Given the description of an element on the screen output the (x, y) to click on. 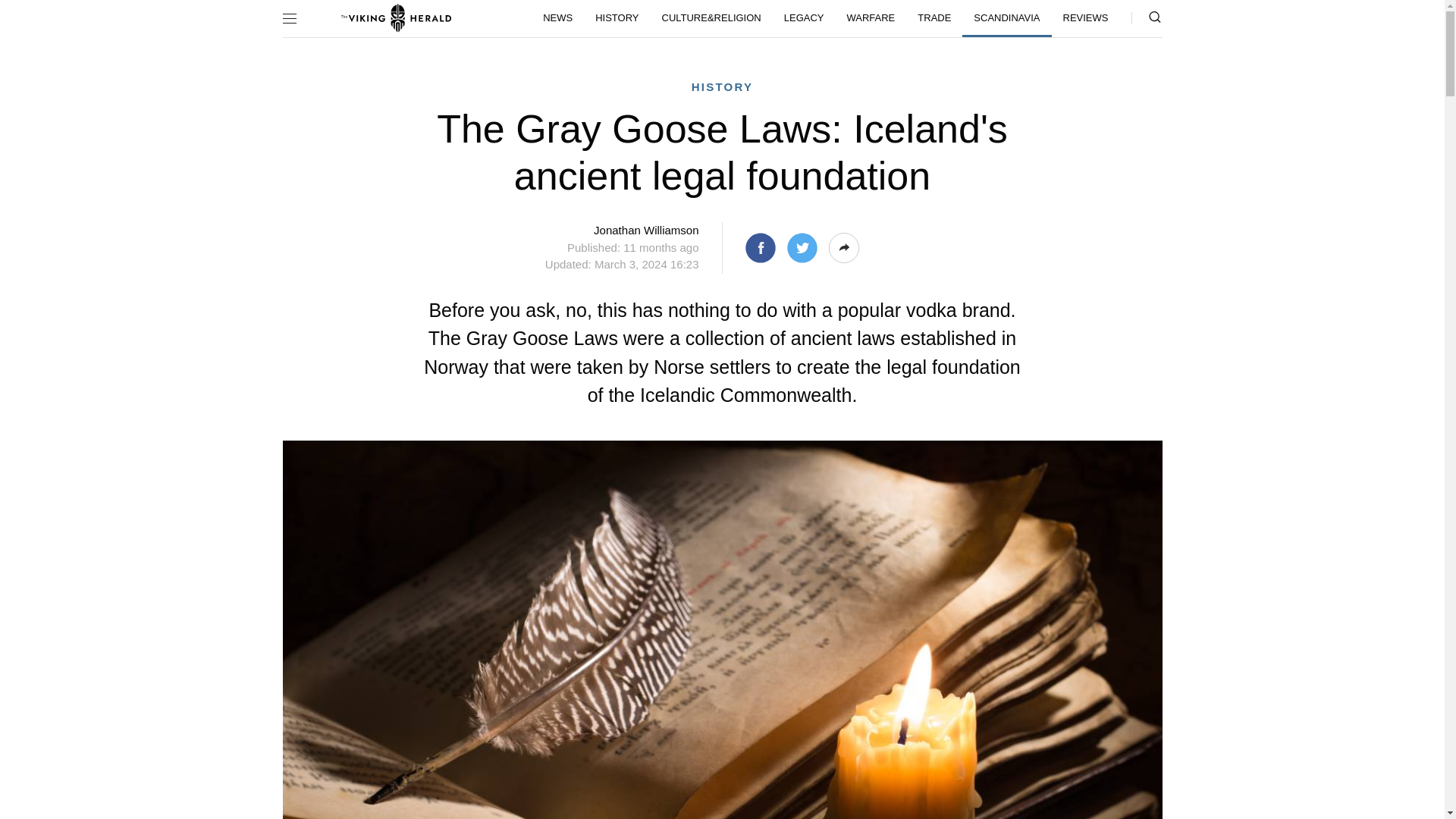
WARFARE (869, 17)
SCANDINAVIA (1006, 18)
LEGACY (804, 17)
REVIEWS (1085, 17)
TRADE (933, 17)
HISTORY (616, 17)
NEWS (557, 17)
